Given the description of an element on the screen output the (x, y) to click on. 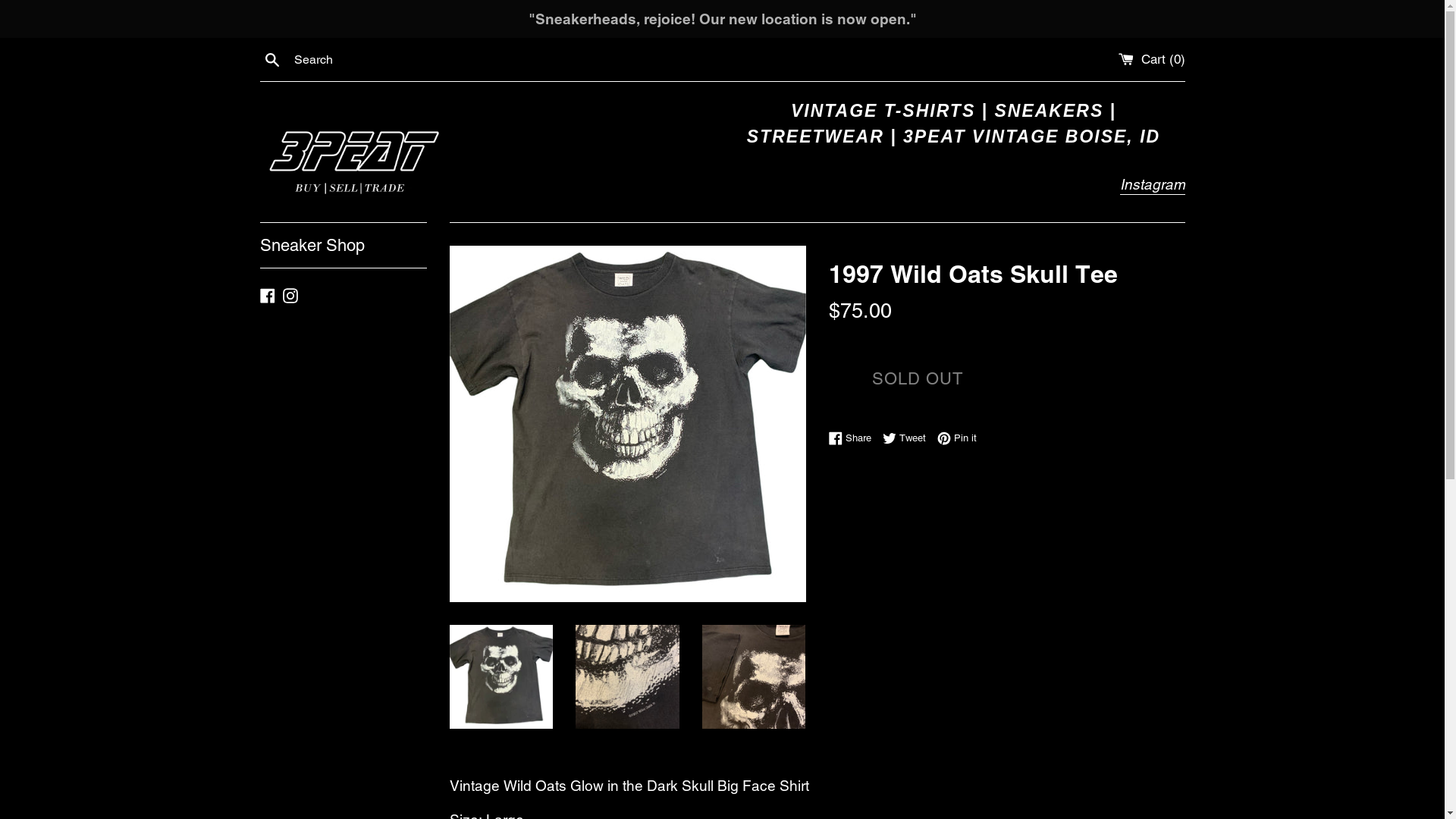
Cart (0) Element type: text (1150, 58)
Pin it
Pin on Pinterest Element type: text (956, 437)
Sneaker Shop Element type: text (342, 244)
Share
Share on Facebook Element type: text (853, 437)
Facebook Element type: text (266, 293)
Instagram Element type: text (1151, 184)
"Sneakerheads, rejoice! Our new location is now open." Element type: text (722, 18)
Search Element type: text (271, 58)
SOLD OUT Element type: text (917, 378)
Instagram Element type: text (289, 293)
Tweet
Tweet on Twitter Element type: text (907, 437)
